Given the description of an element on the screen output the (x, y) to click on. 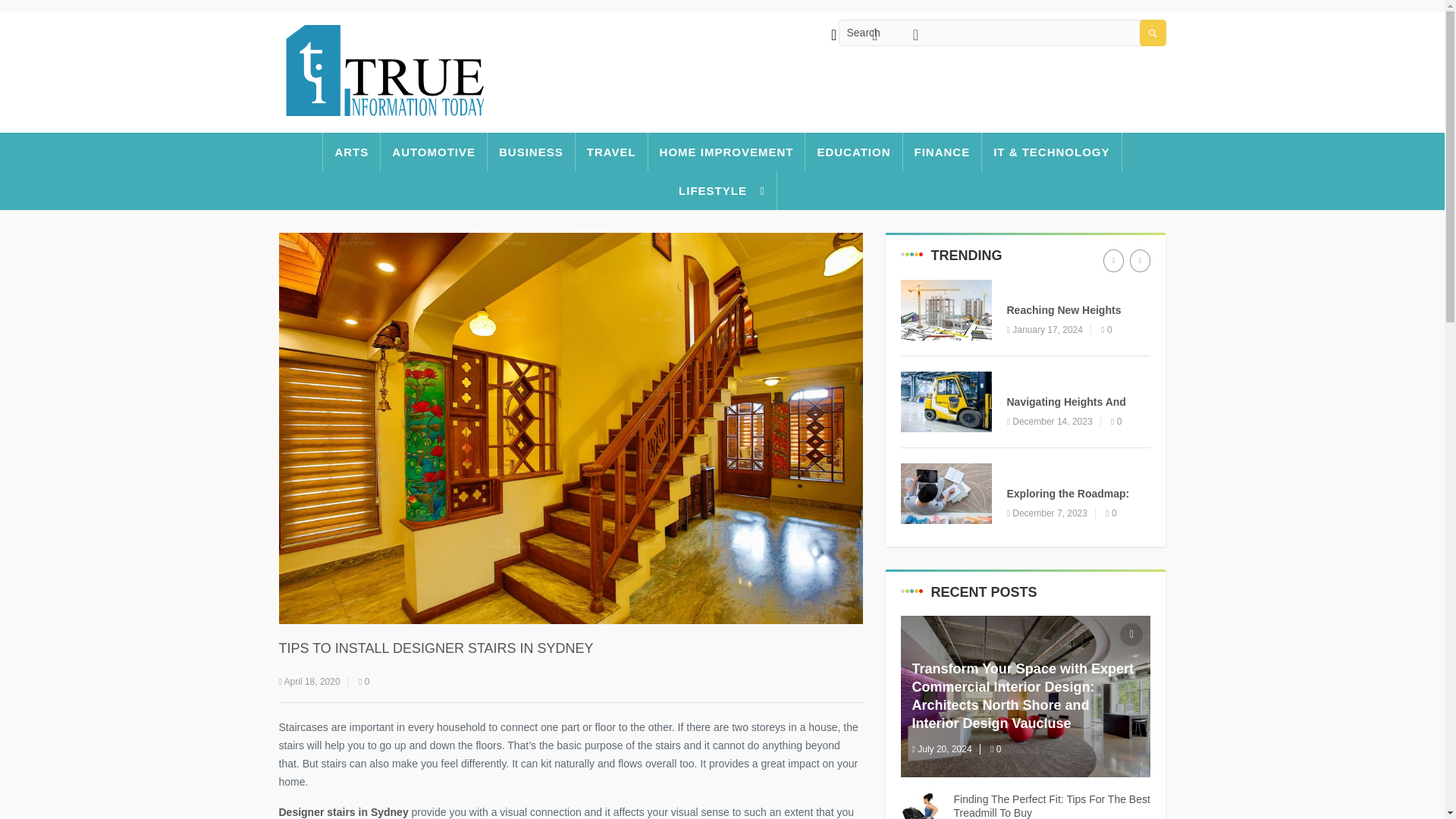
BUSINESS (531, 151)
0 (363, 681)
Designer stairs in Sydney (344, 811)
ARTS (350, 151)
Search (1001, 32)
EDUCATION (853, 151)
HOME IMPROVEMENT (726, 151)
TRAVEL (611, 151)
AUTOMOTIVE (433, 151)
FINANCE (942, 151)
LIFESTYLE (721, 190)
